Given the description of an element on the screen output the (x, y) to click on. 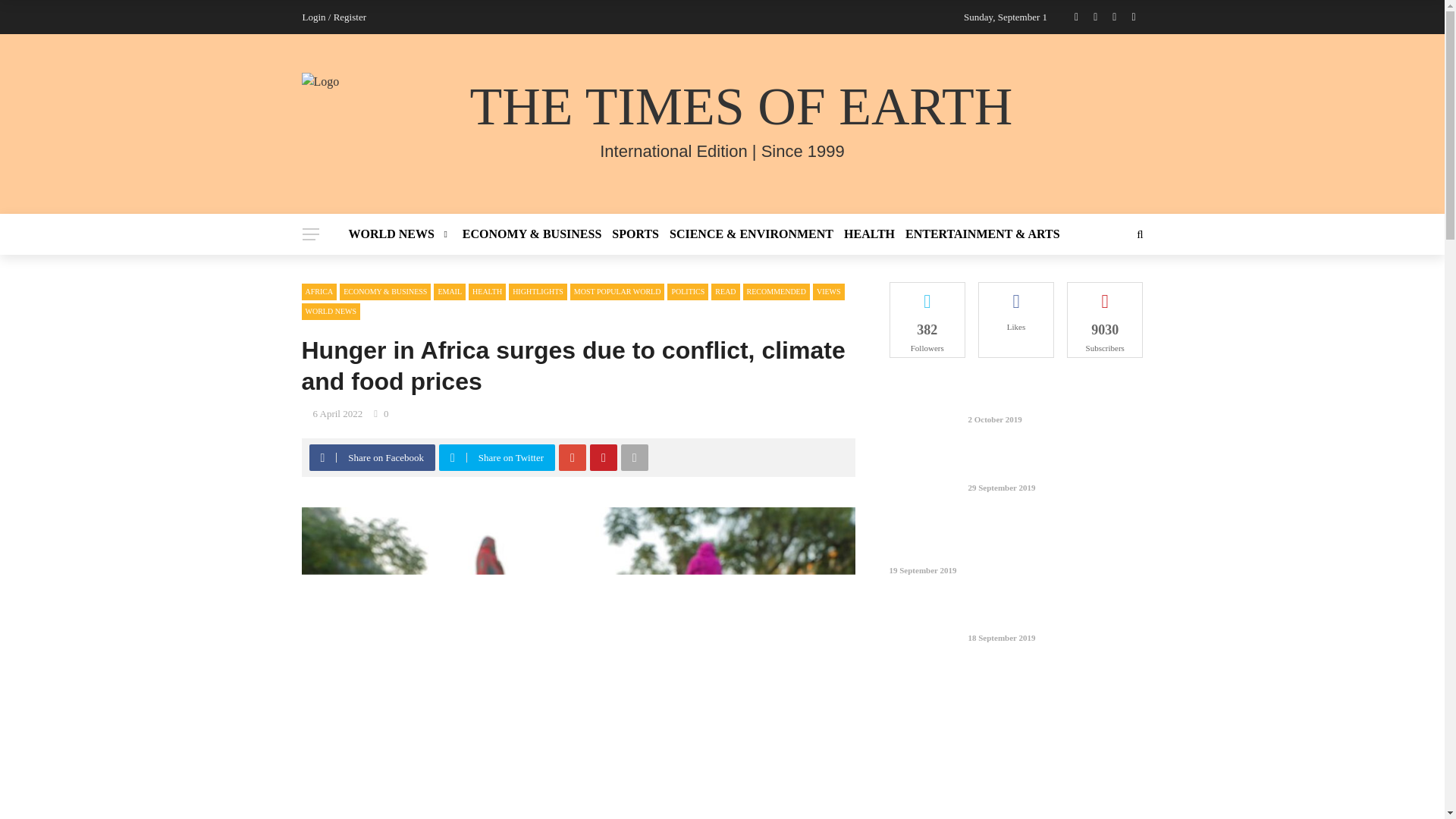
SPORTS (635, 233)
WORLD NEWS (403, 233)
HEALTH (868, 233)
